Given the description of an element on the screen output the (x, y) to click on. 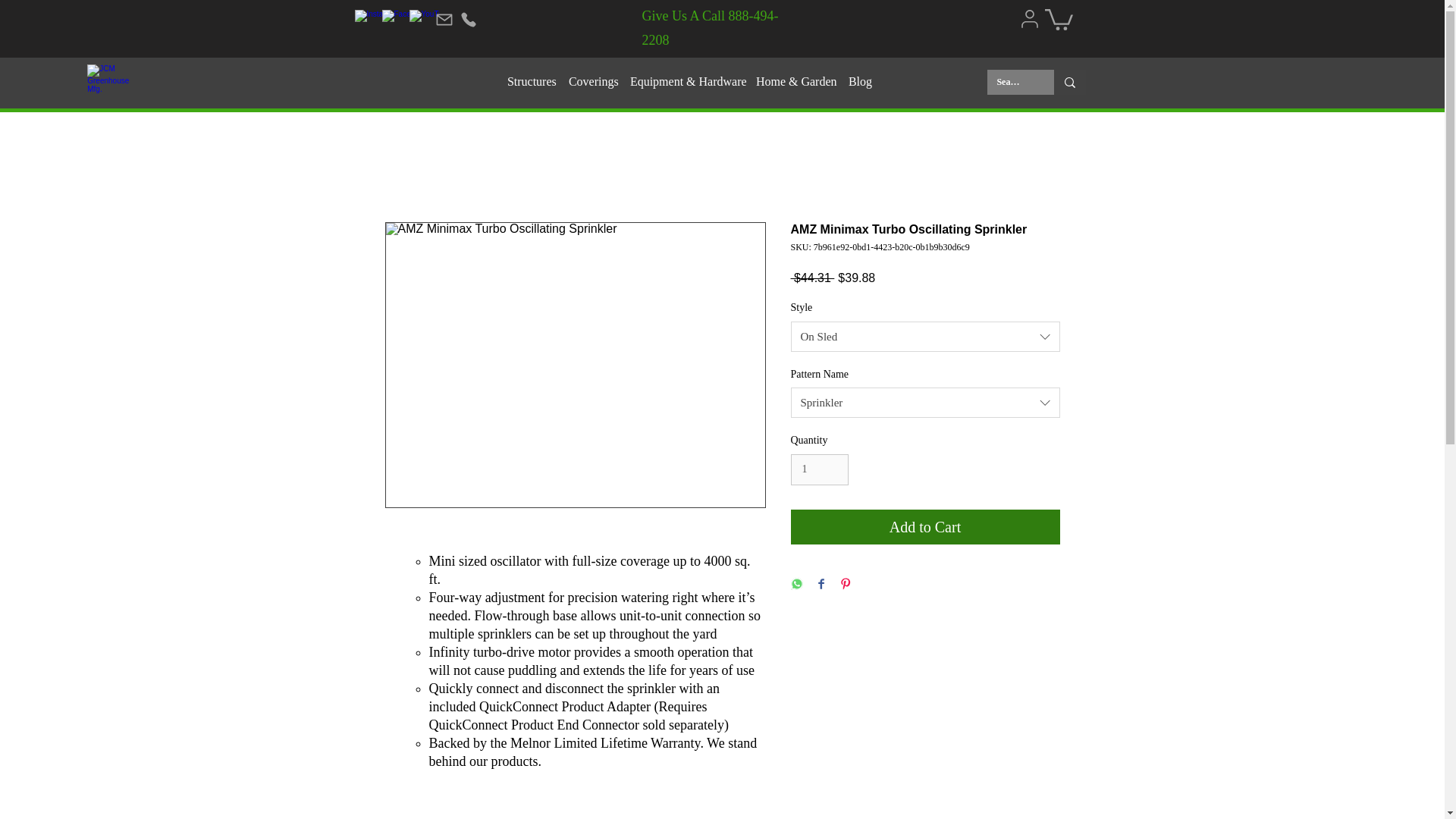
On Sled (924, 336)
Coverings (591, 81)
Sprinkler (924, 402)
Blog (859, 81)
Structures (529, 81)
Add to Cart (924, 526)
1 (818, 469)
